Given the description of an element on the screen output the (x, y) to click on. 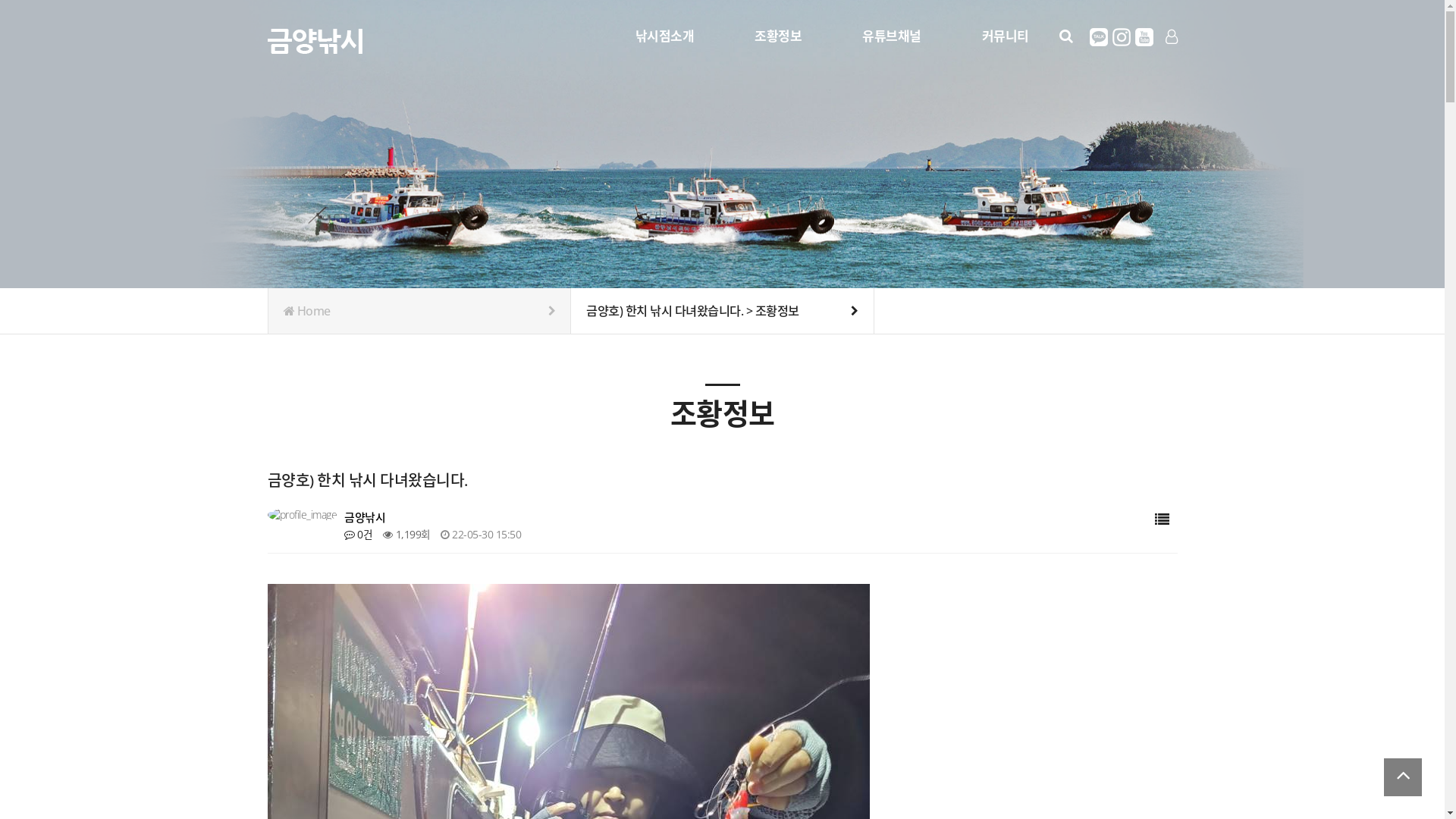
Home Element type: text (419, 310)
Company Logo Element type: text (313, 37)
